Given the description of an element on the screen output the (x, y) to click on. 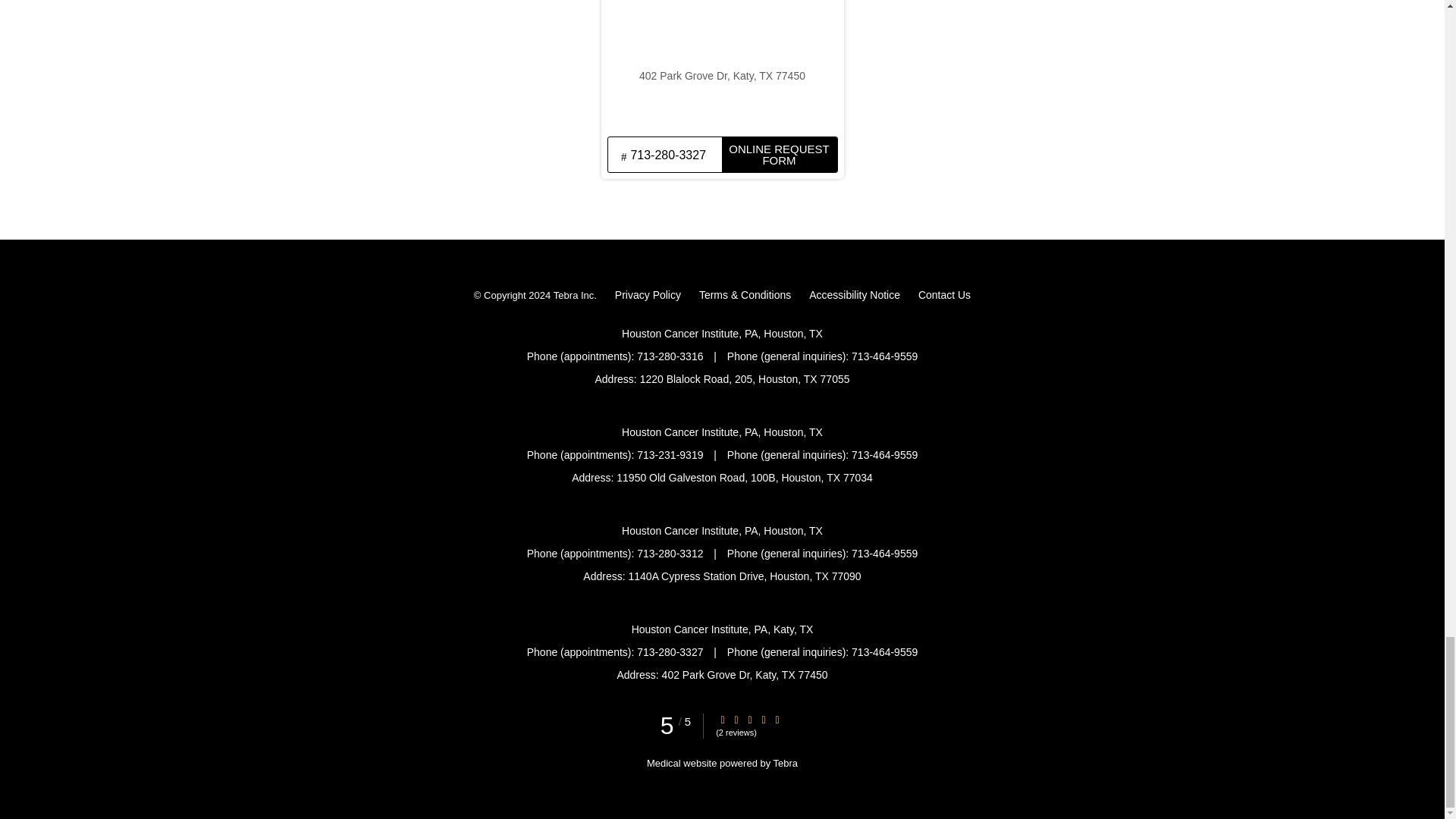
Star Rating (777, 719)
Star Rating (749, 719)
Star Rating (722, 719)
Map of Houston Cancer Institute - Katy (721, 65)
Star Rating (735, 719)
Star Rating (763, 719)
